Given the description of an element on the screen output the (x, y) to click on. 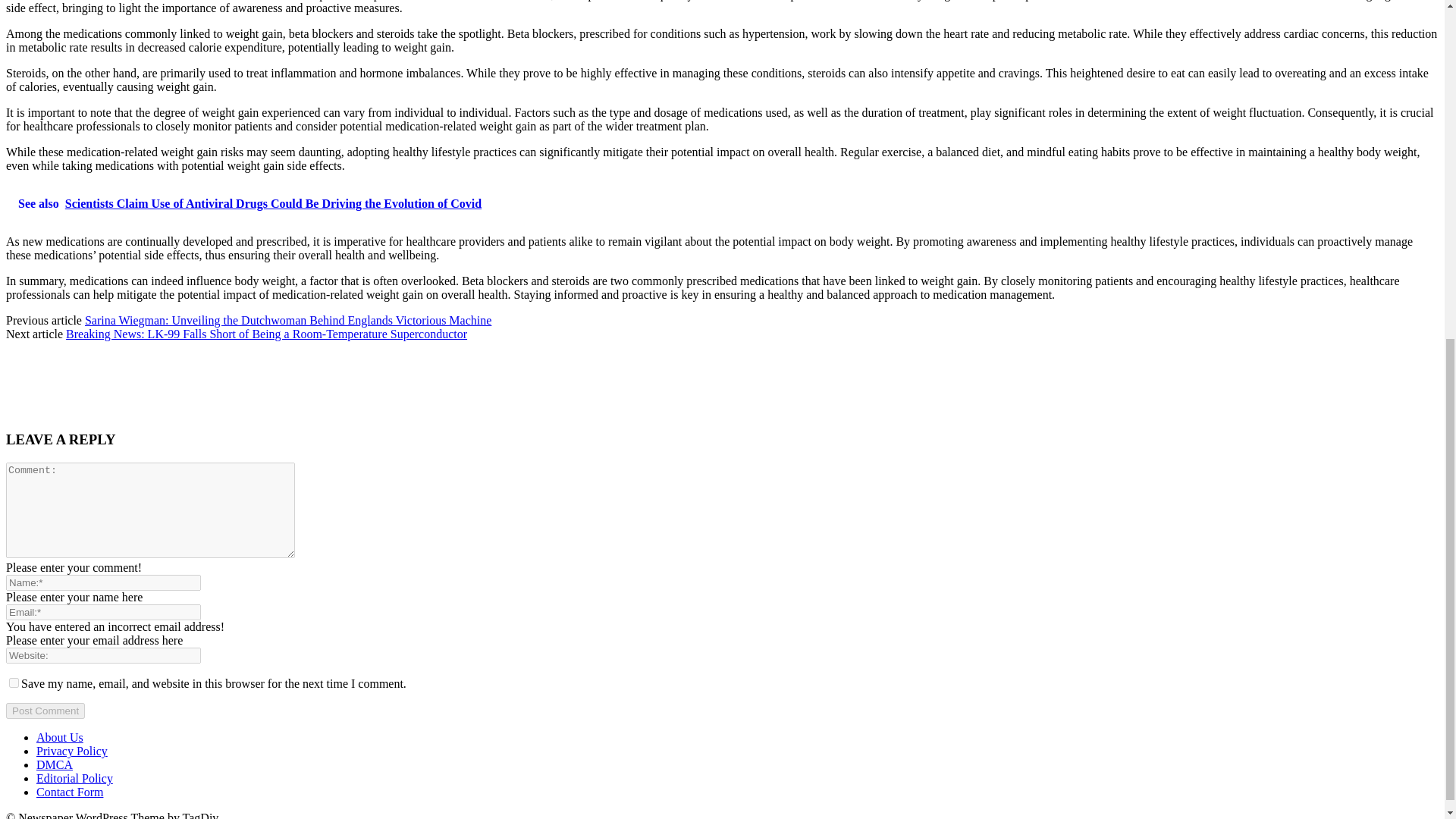
Privacy Policy (71, 750)
yes (13, 682)
Contact Form (69, 791)
Editorial Policy (74, 778)
About Us (59, 737)
Post Comment (44, 710)
DMCA (54, 764)
Post Comment (44, 710)
